Given the description of an element on the screen output the (x, y) to click on. 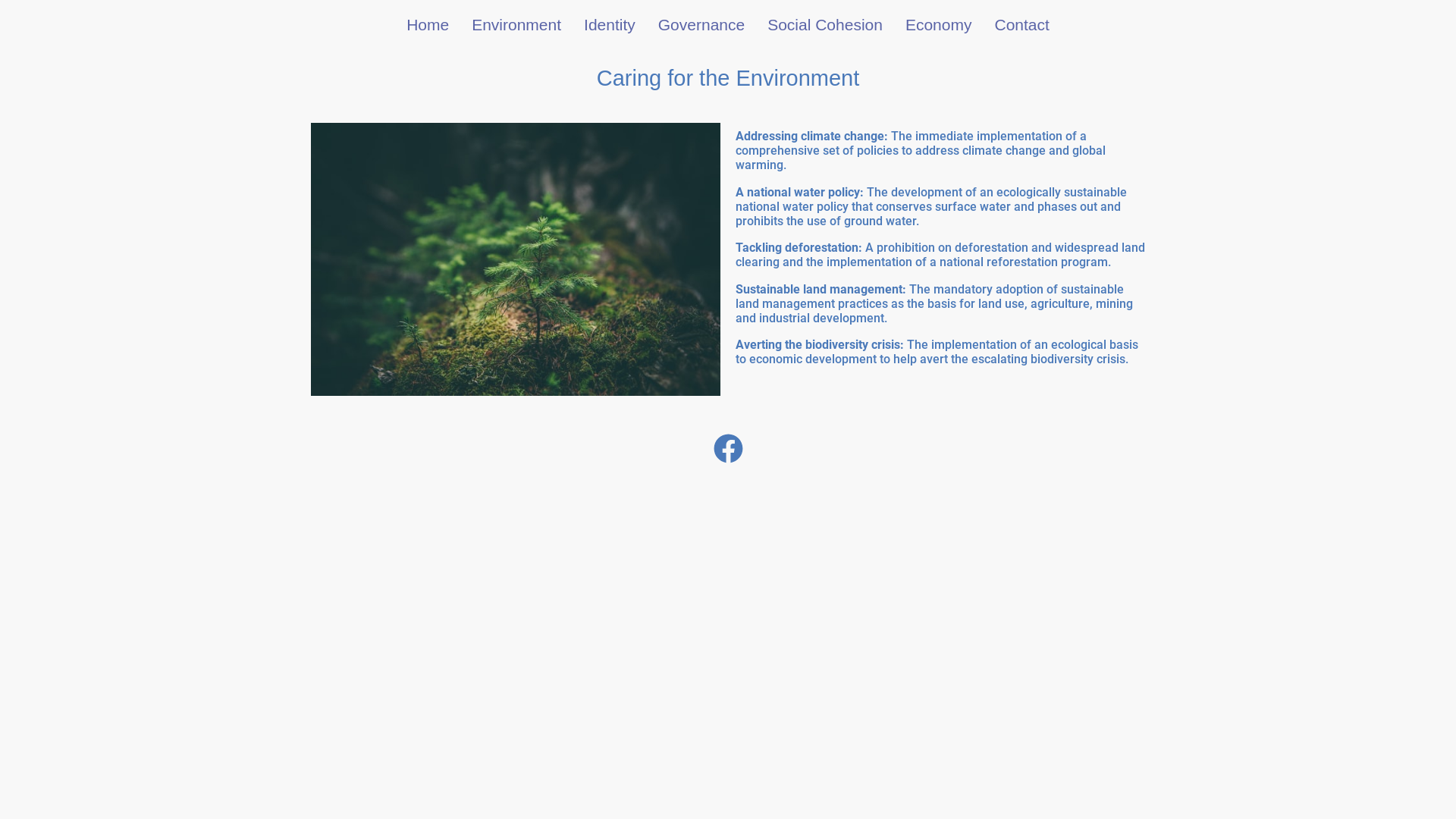
Governance Element type: text (701, 24)
Identity Element type: text (609, 24)
Environment Element type: text (516, 24)
Social Cohesion Element type: text (825, 24)
Home Element type: text (427, 24)
Economy Element type: text (938, 24)
Contact Element type: text (1021, 24)
